Given the description of an element on the screen output the (x, y) to click on. 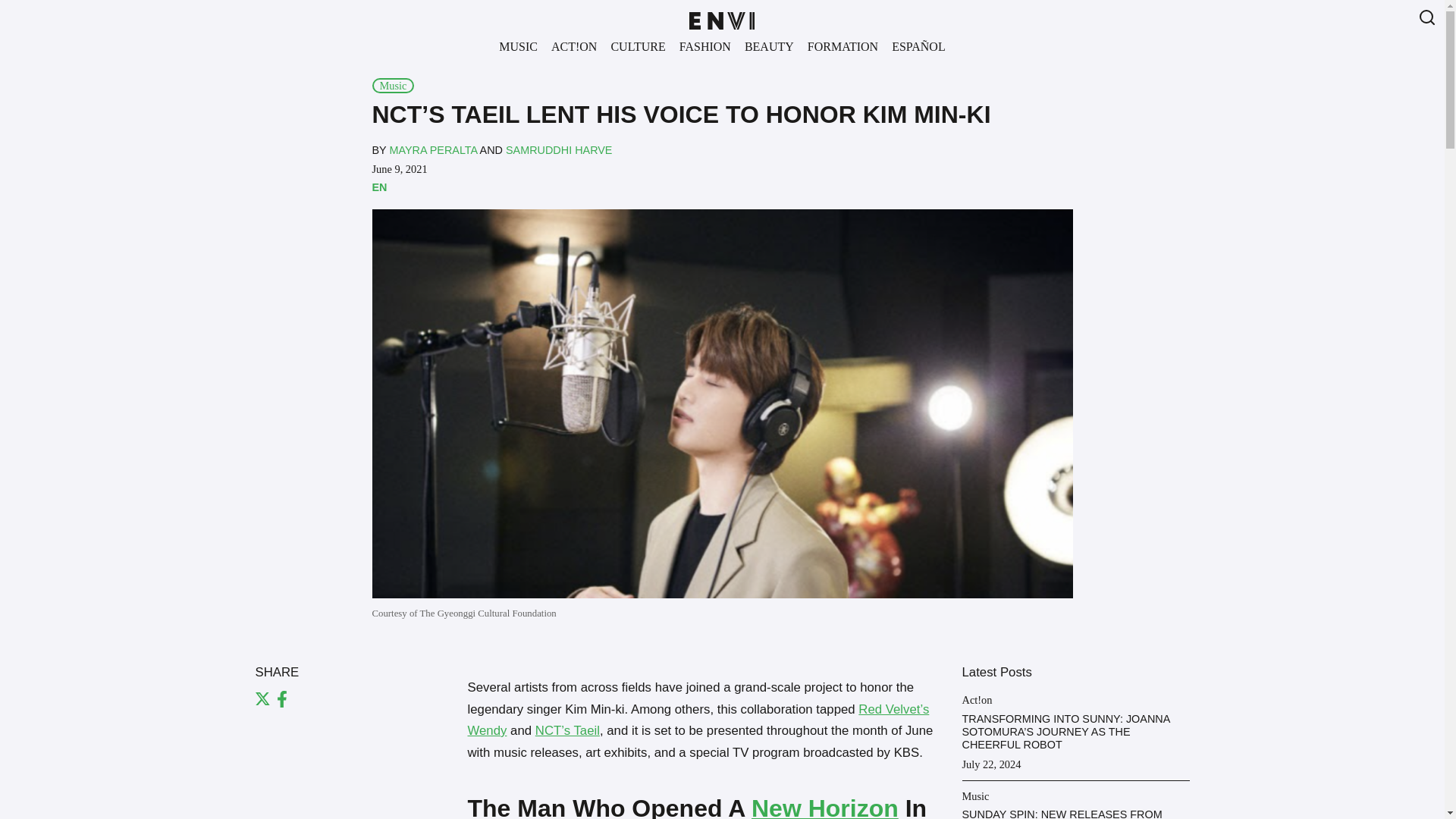
New Horizon (824, 806)
SAMRUDDHI HARVE (558, 150)
Music (392, 85)
MAYRA PERALTA (432, 150)
ACT!ON (573, 46)
FASHION (704, 46)
MUSIC (518, 46)
CULTURE (637, 46)
BEAUTY (768, 46)
FORMATION (842, 46)
